Given the description of an element on the screen output the (x, y) to click on. 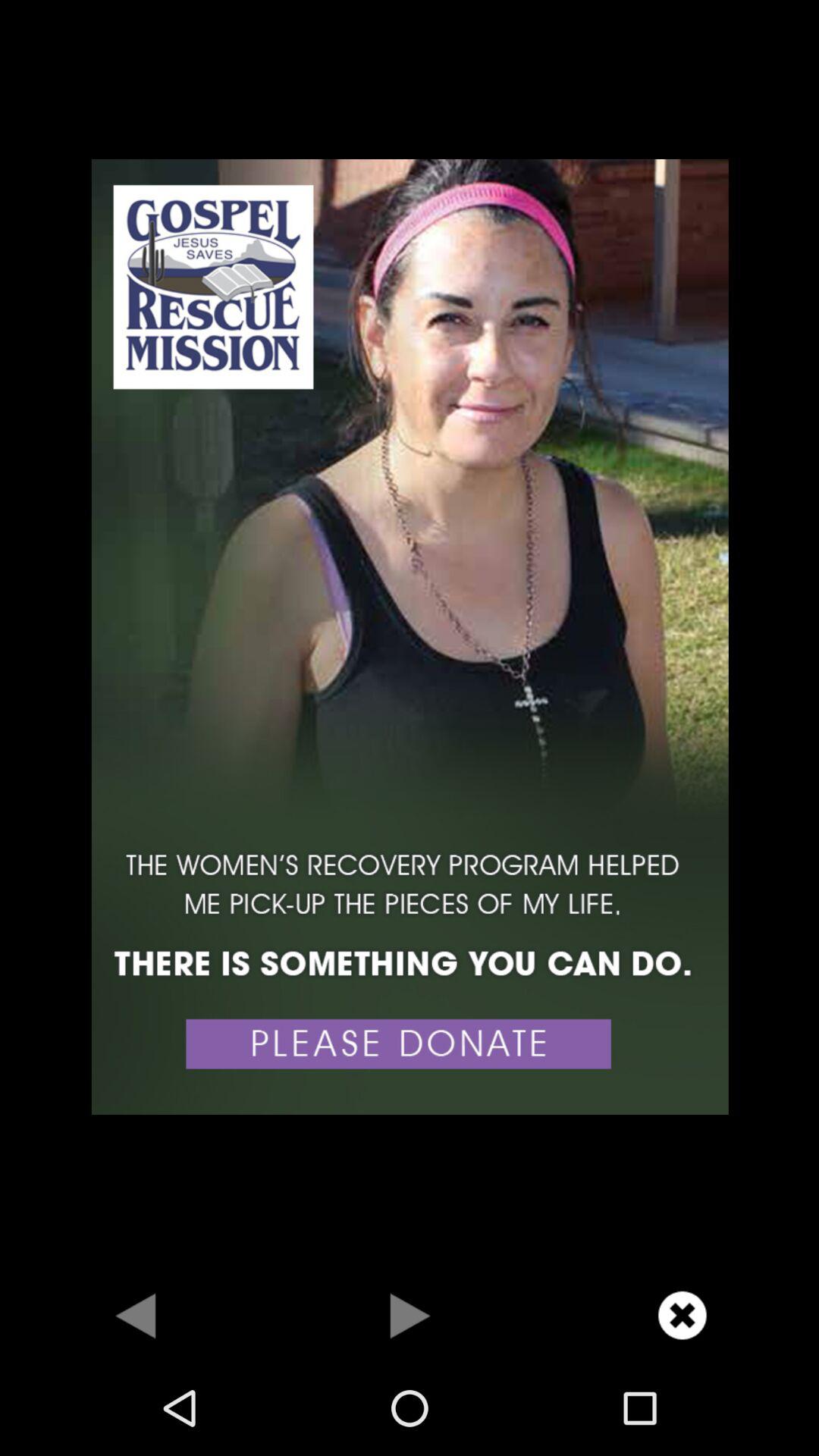
close button (682, 1315)
